Given the description of an element on the screen output the (x, y) to click on. 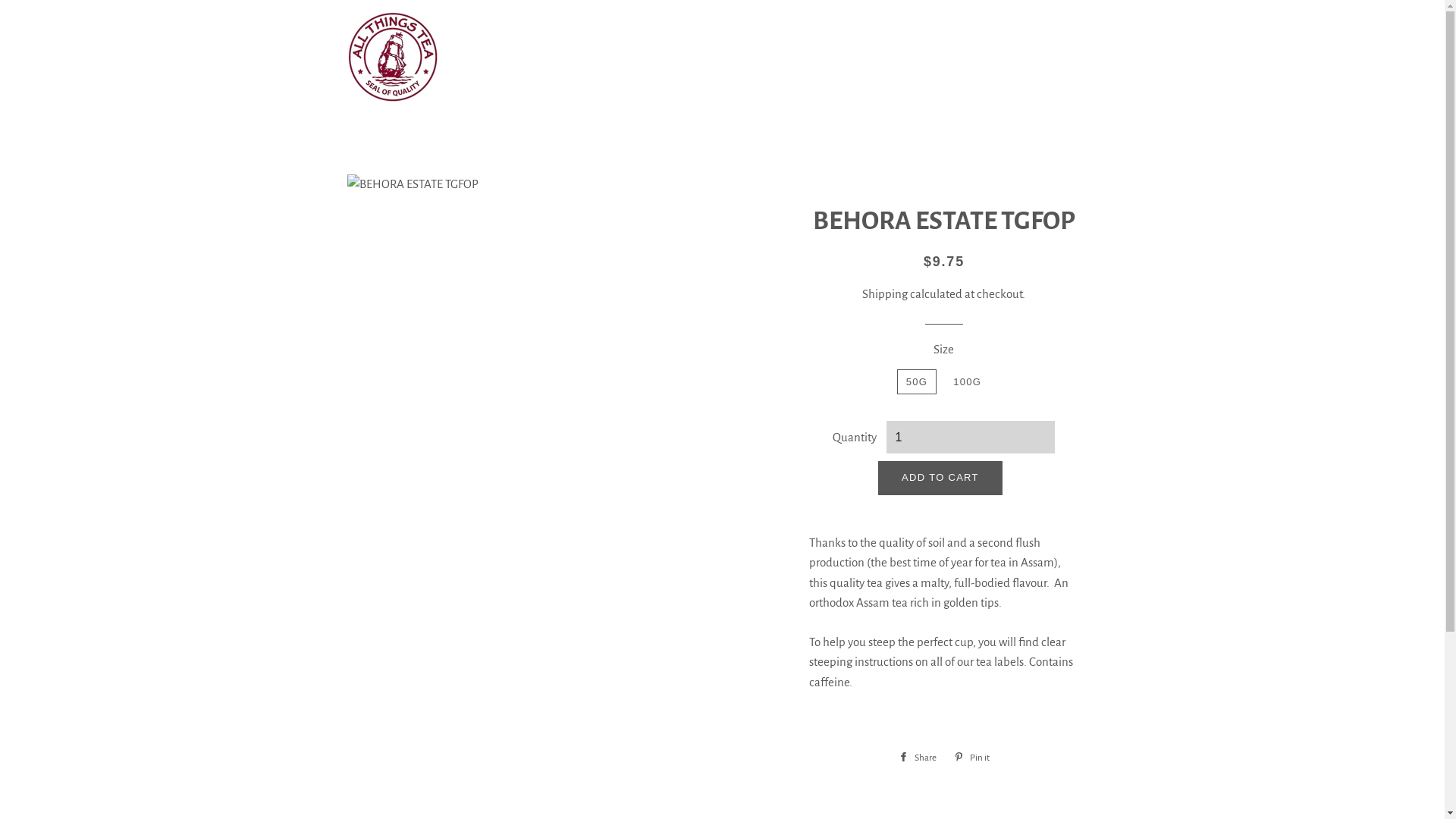
ADD TO CART Element type: text (940, 477)
Shipping Element type: text (884, 293)
Pin it
Pin on Pinterest Element type: text (971, 757)
Share
Share on Facebook Element type: text (917, 757)
